Given the description of an element on the screen output the (x, y) to click on. 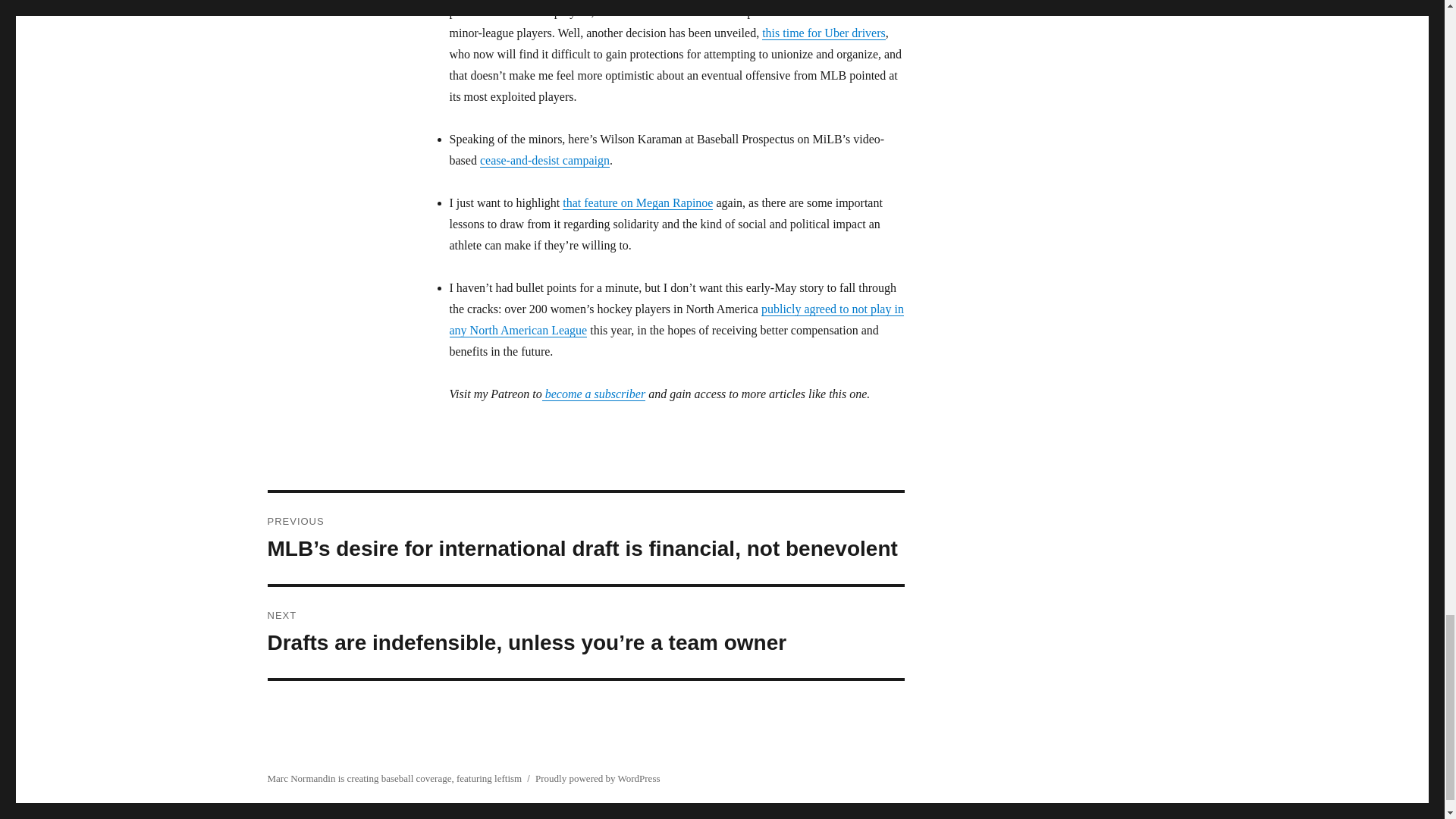
publicly agreed to not play in any North American League (675, 319)
cease-and-desist campaign (545, 160)
become a subscriber (593, 393)
this time for Uber drivers (823, 32)
that feature on Megan Rapinoe (637, 202)
